Given the description of an element on the screen output the (x, y) to click on. 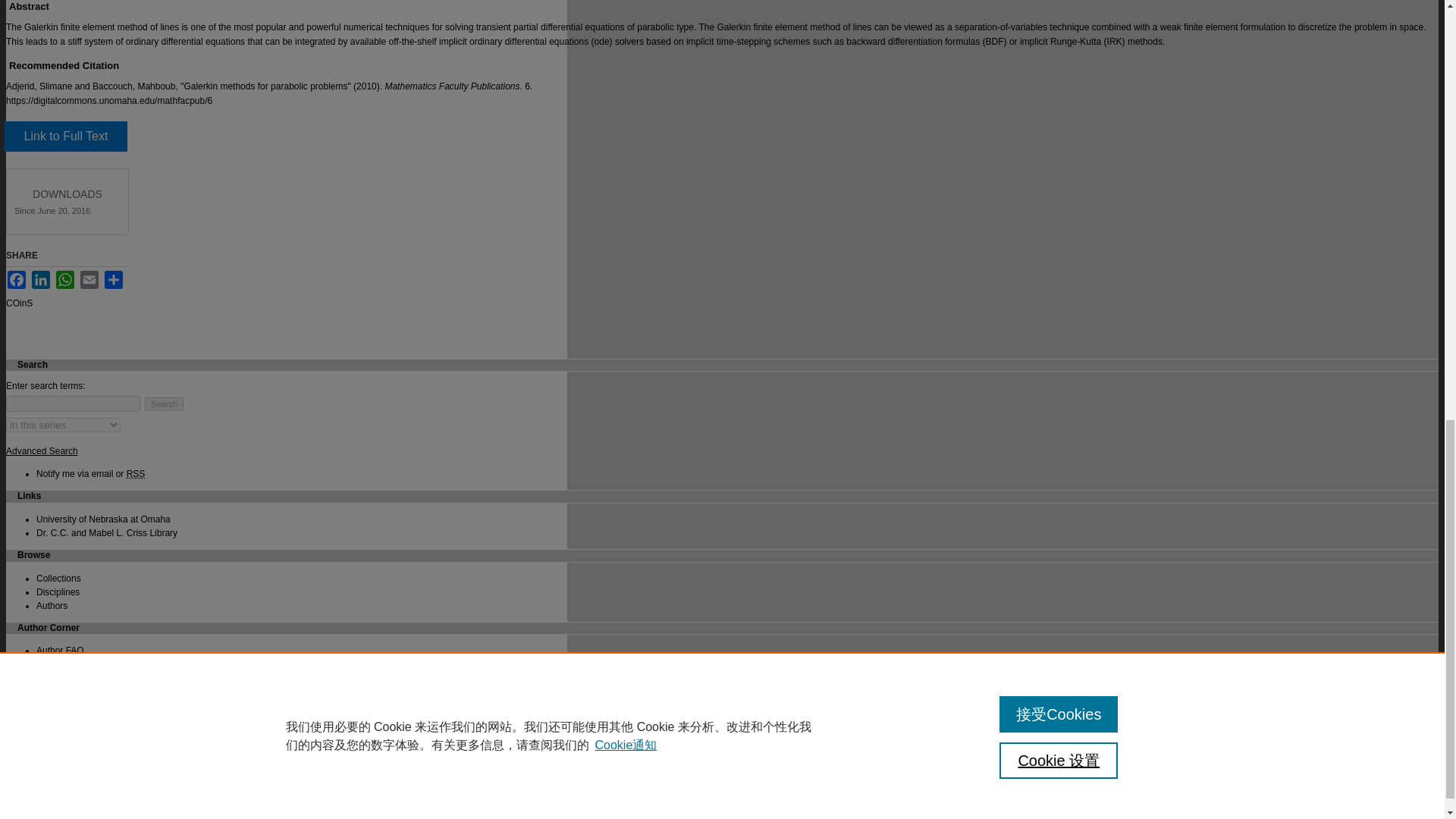
Email or RSS Notifications (90, 473)
Authors (51, 605)
University of Nebraska at Omaha (103, 519)
Browse by Collections (58, 578)
Link to Full Text (66, 136)
WhatsApp (65, 280)
Facebook (16, 280)
Search (163, 404)
Collections (58, 578)
Advanced Search (41, 450)
Email (89, 280)
Disciplines (58, 592)
Dr. C.C. and Mabel L. Criss Library (106, 532)
Really Simple Syndication (135, 473)
Notify me via email or RSS (90, 473)
